Given the description of an element on the screen output the (x, y) to click on. 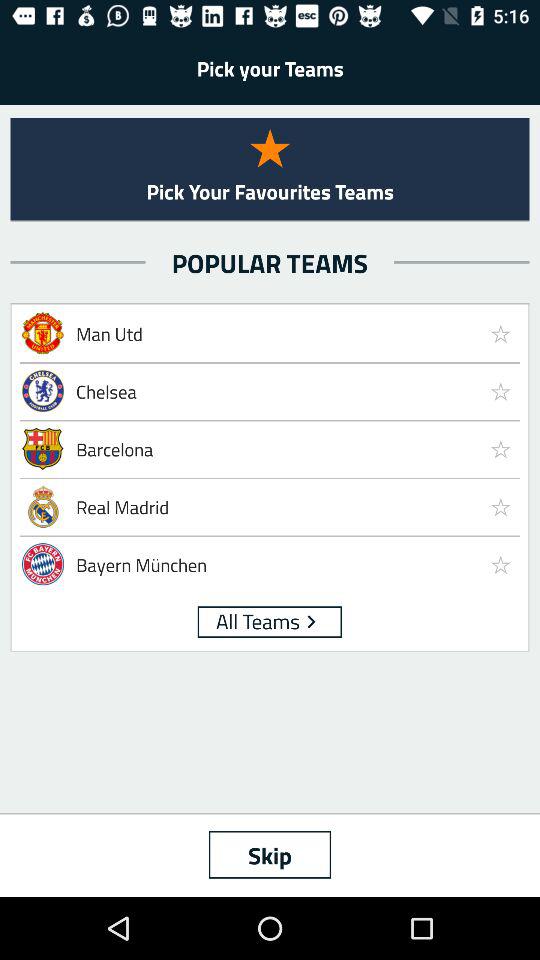
jump until skip item (269, 854)
